Given the description of an element on the screen output the (x, y) to click on. 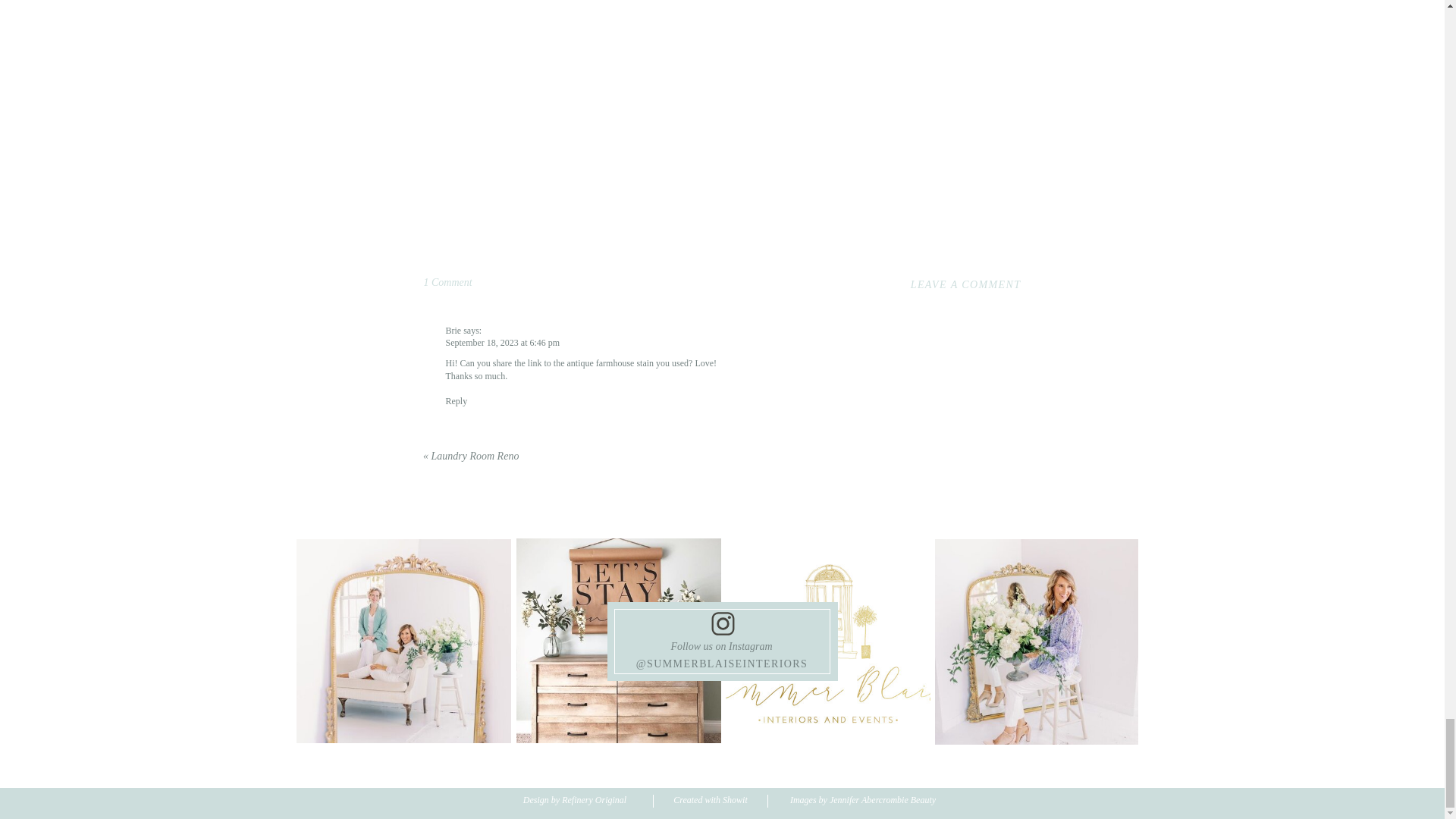
LEAVE A COMMENT (936, 285)
Laundry Room Reno (474, 455)
Images by Jennifer Abercrombie Beauty (862, 801)
Design by Refinery Original (574, 801)
Created with Showit (710, 801)
September 18, 2023 at 6:46 pm (502, 342)
Reply (447, 282)
